Given the description of an element on the screen output the (x, y) to click on. 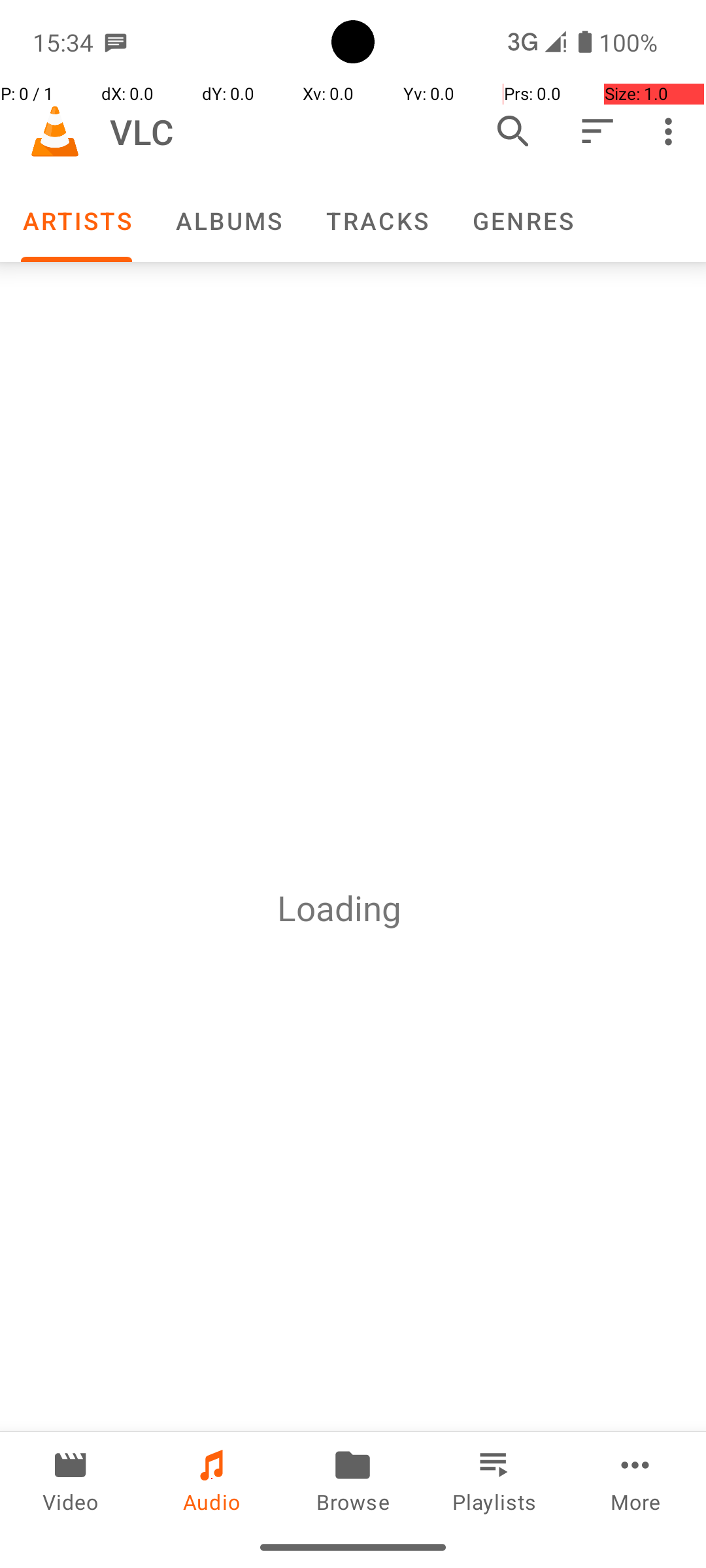
Tracks Element type: android.widget.LinearLayout (376, 220)
Genres Element type: android.widget.LinearLayout (521, 220)
ARTISTS Element type: android.widget.TextView (76, 220)
ALBUMS Element type: android.widget.TextView (227, 220)
TRACKS Element type: android.widget.TextView (376, 220)
GENRES Element type: android.widget.TextView (521, 220)
